Given the description of an element on the screen output the (x, y) to click on. 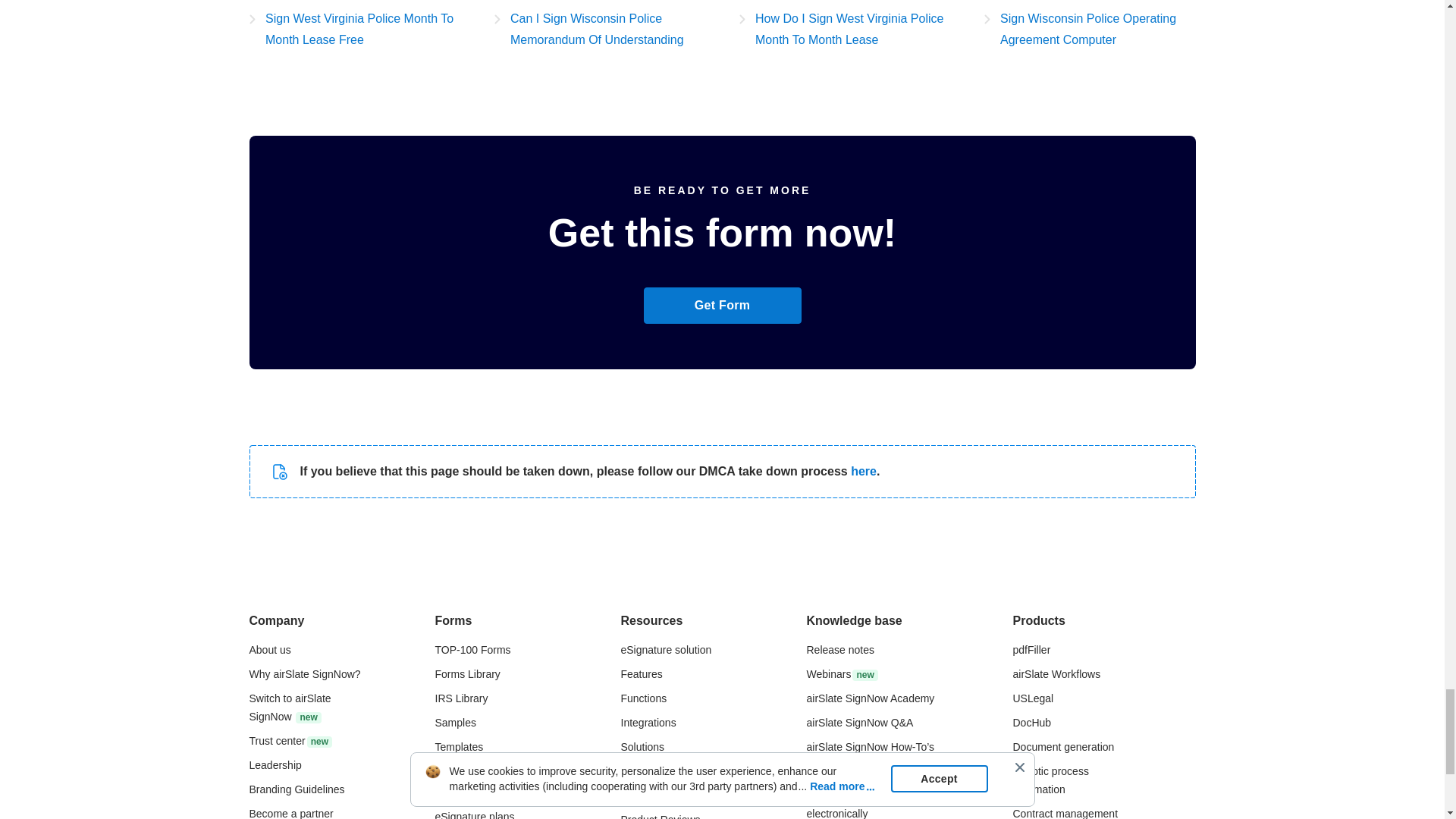
Go to the sample documents page (455, 722)
Go to the Brand page (295, 788)
Can I Sign Wisconsin Police Memorandum Of Understanding (600, 29)
Go to the  airSlate signNow  irs library page (461, 698)
Go to the top 100 forms page (473, 649)
Go to the  airSlate signNow  templates page (459, 746)
Go to the  airSlate signNow  forms library page (467, 674)
Go to the  airSlate signNow  pricing page (475, 814)
Go to the Migrate page (289, 707)
Go to the About Us page (268, 649)
Go to the trust center page (289, 740)
Sign West Virginia Police Month To Month Lease Free (354, 29)
Go to the airSlate partner portal (290, 813)
Go to the leadership page (274, 765)
Go to the Why  airSlate signNow ? page (303, 674)
